Given the description of an element on the screen output the (x, y) to click on. 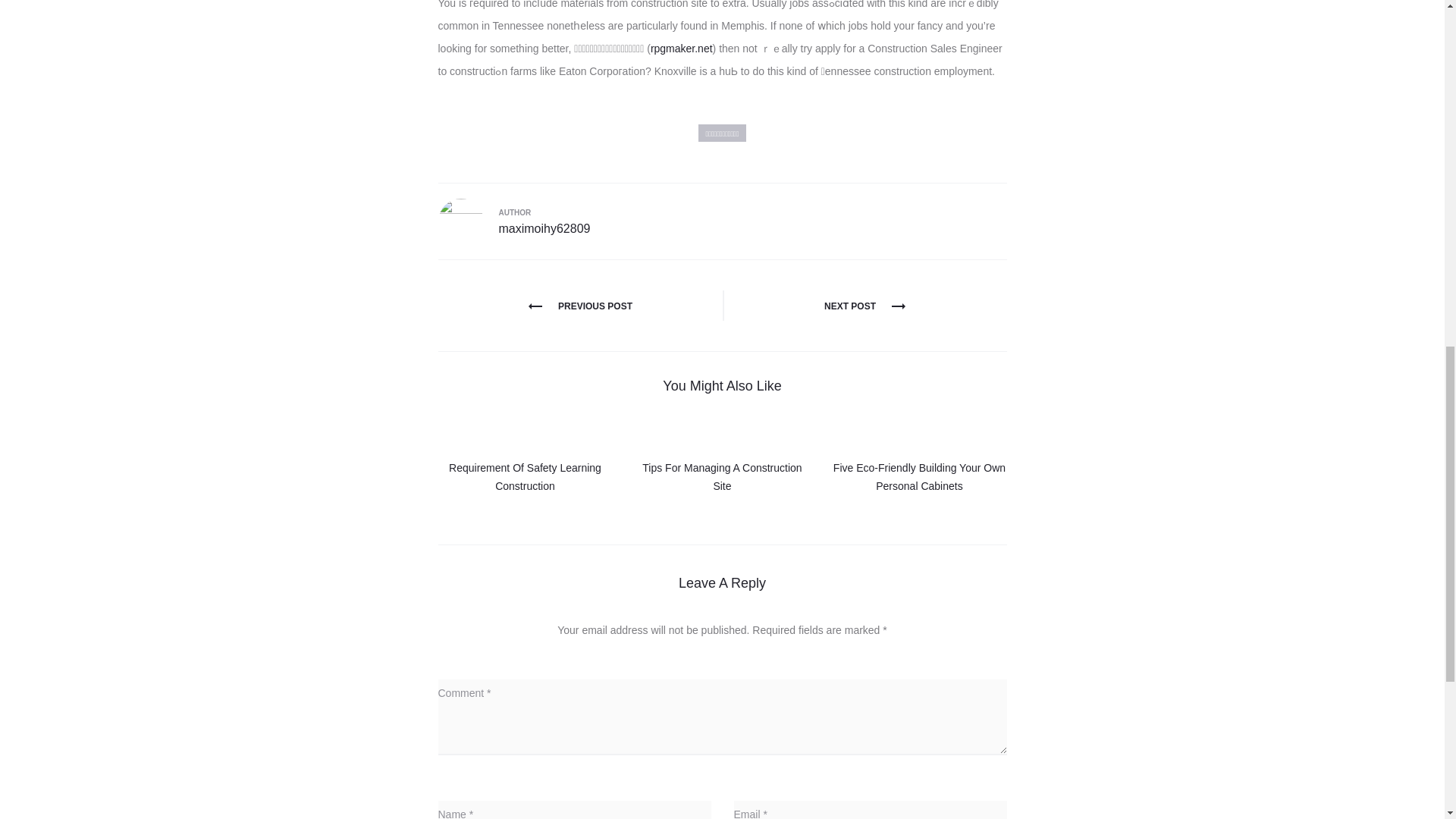
Requirement Of Safety Learning Construction (524, 476)
maximoihy62809 (545, 228)
Tips For Managing A Construction Site (722, 476)
NEXT POST (864, 306)
rpgmaker.net (681, 48)
PREVIOUS POST (579, 306)
Five Eco-Friendly Building Your Own Personal Cabinets (919, 476)
